Given the description of an element on the screen output the (x, y) to click on. 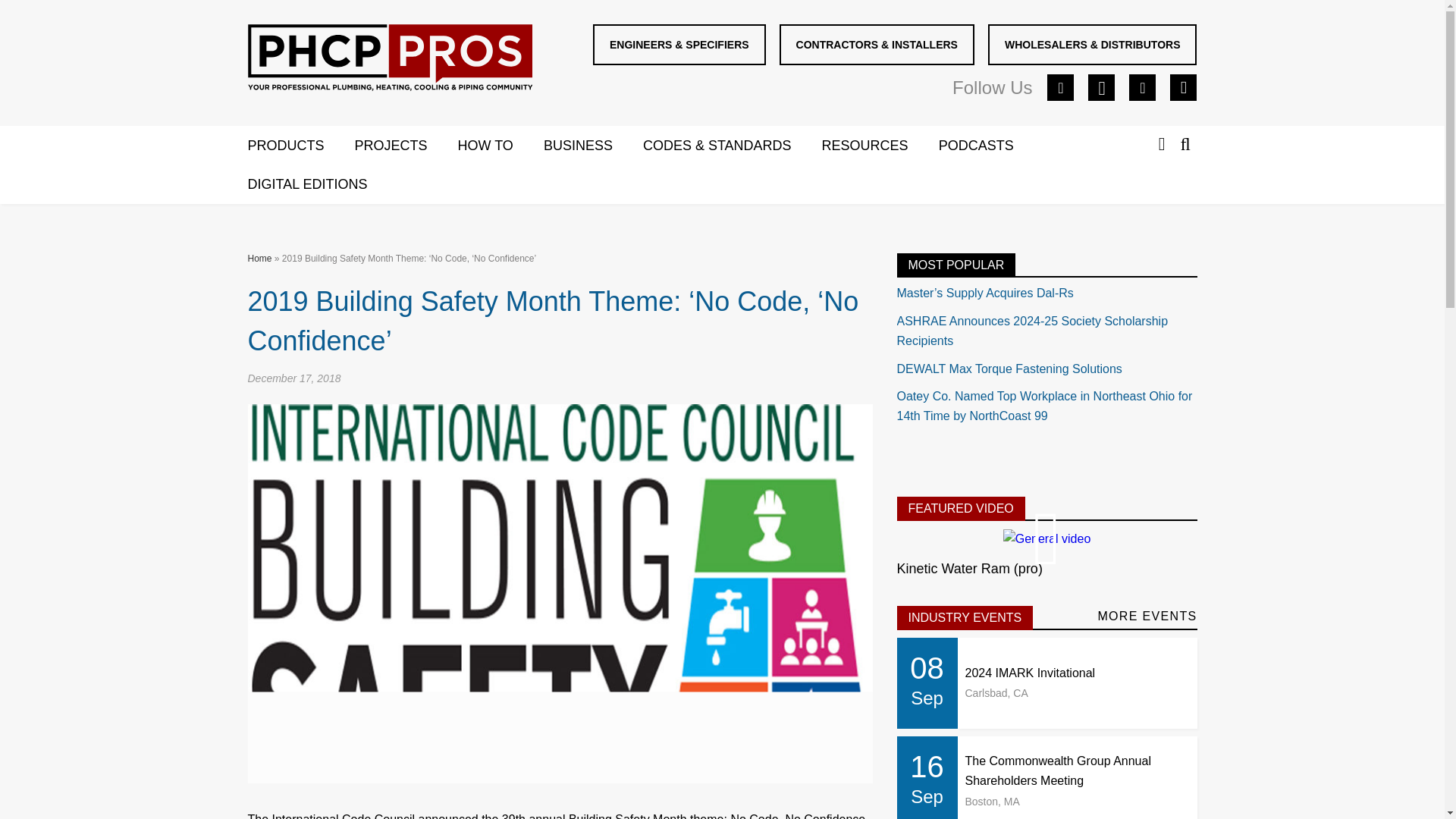
BUSINESS (593, 146)
logo (389, 57)
logo (389, 60)
HOW TO (500, 146)
PRODUCTS (300, 146)
PROJECTS (406, 146)
